Given the description of an element on the screen output the (x, y) to click on. 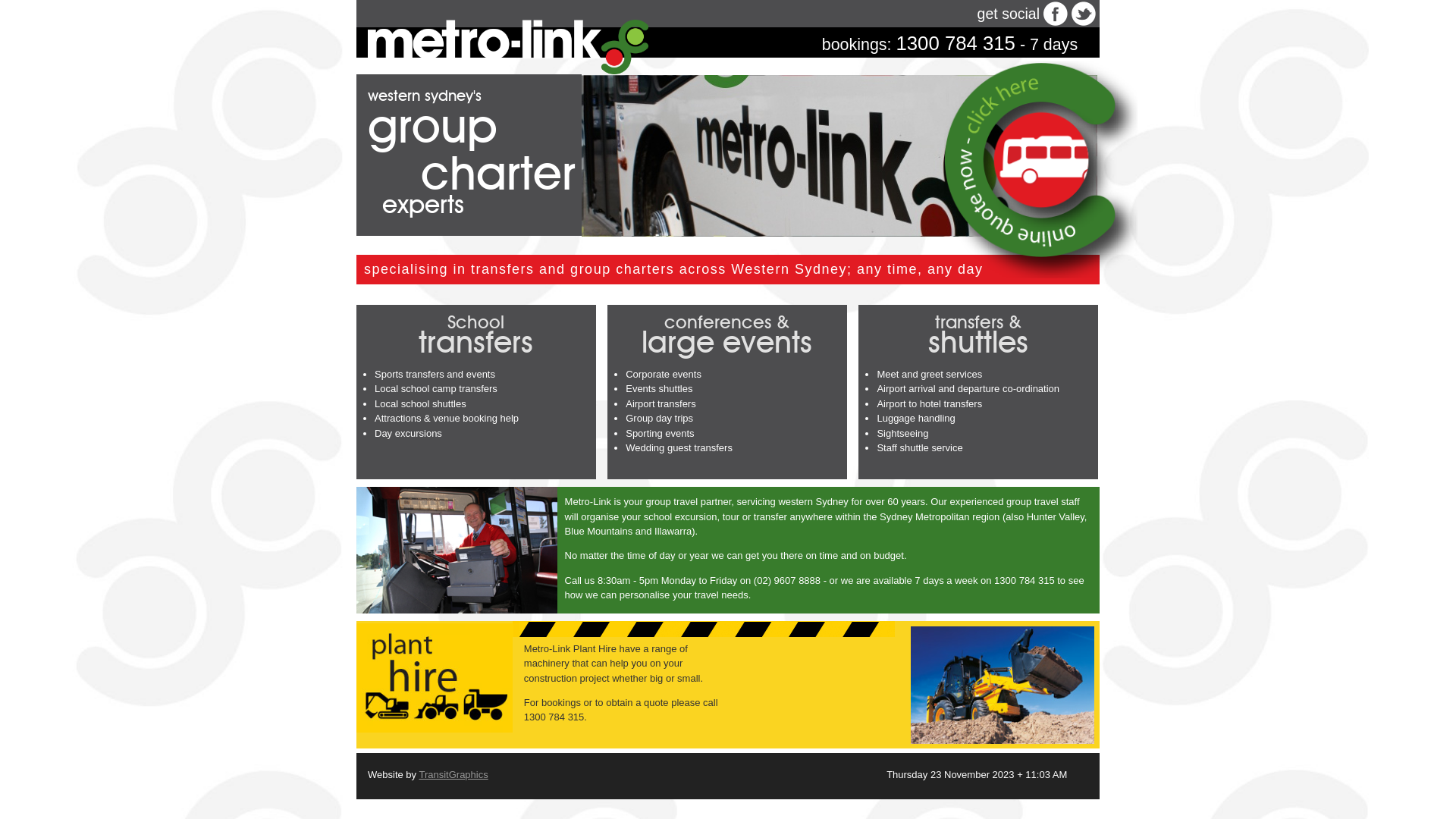
transfers &
shuttles Element type: text (978, 334)
School
transfers Element type: text (475, 334)
conferences &
large events Element type: text (726, 334)
TransitGraphics Element type: text (452, 774)
